Given the description of an element on the screen output the (x, y) to click on. 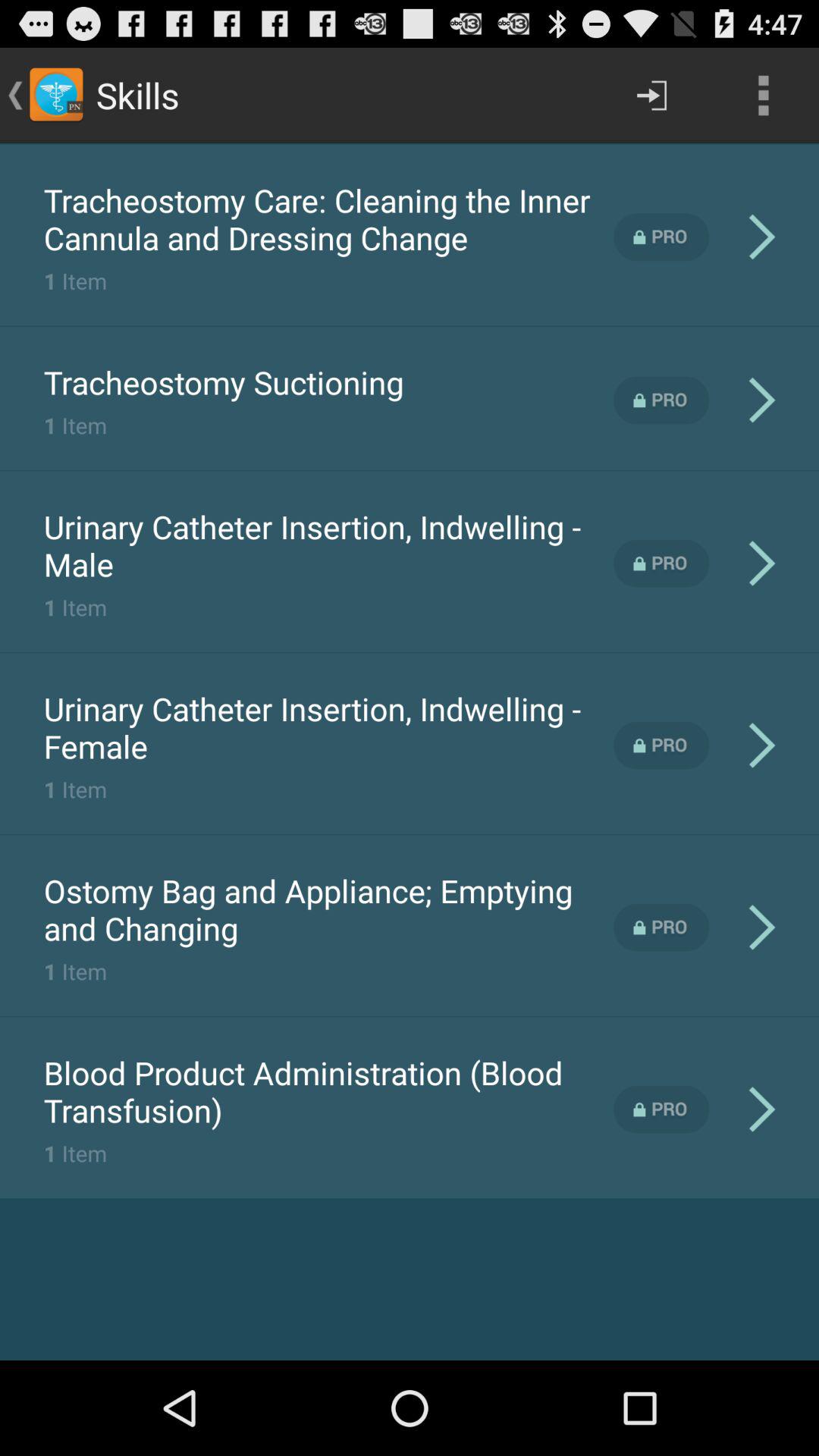
turn on the tracheostomy care cleaning (328, 218)
